Given the description of an element on the screen output the (x, y) to click on. 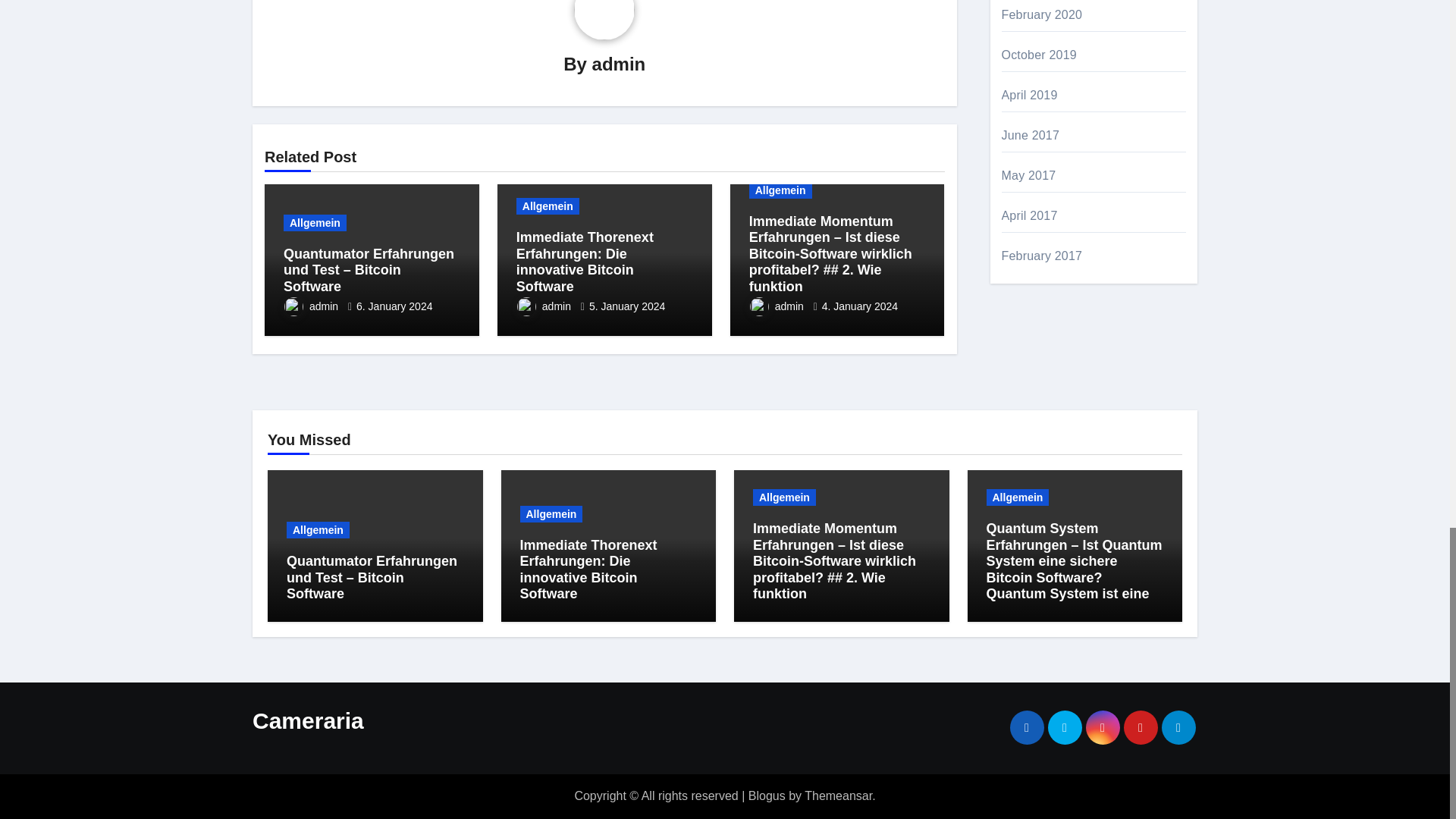
Allgemein (547, 206)
Allgemein (314, 222)
admin (619, 64)
6. January 2024 (394, 306)
admin (311, 306)
